Given the description of an element on the screen output the (x, y) to click on. 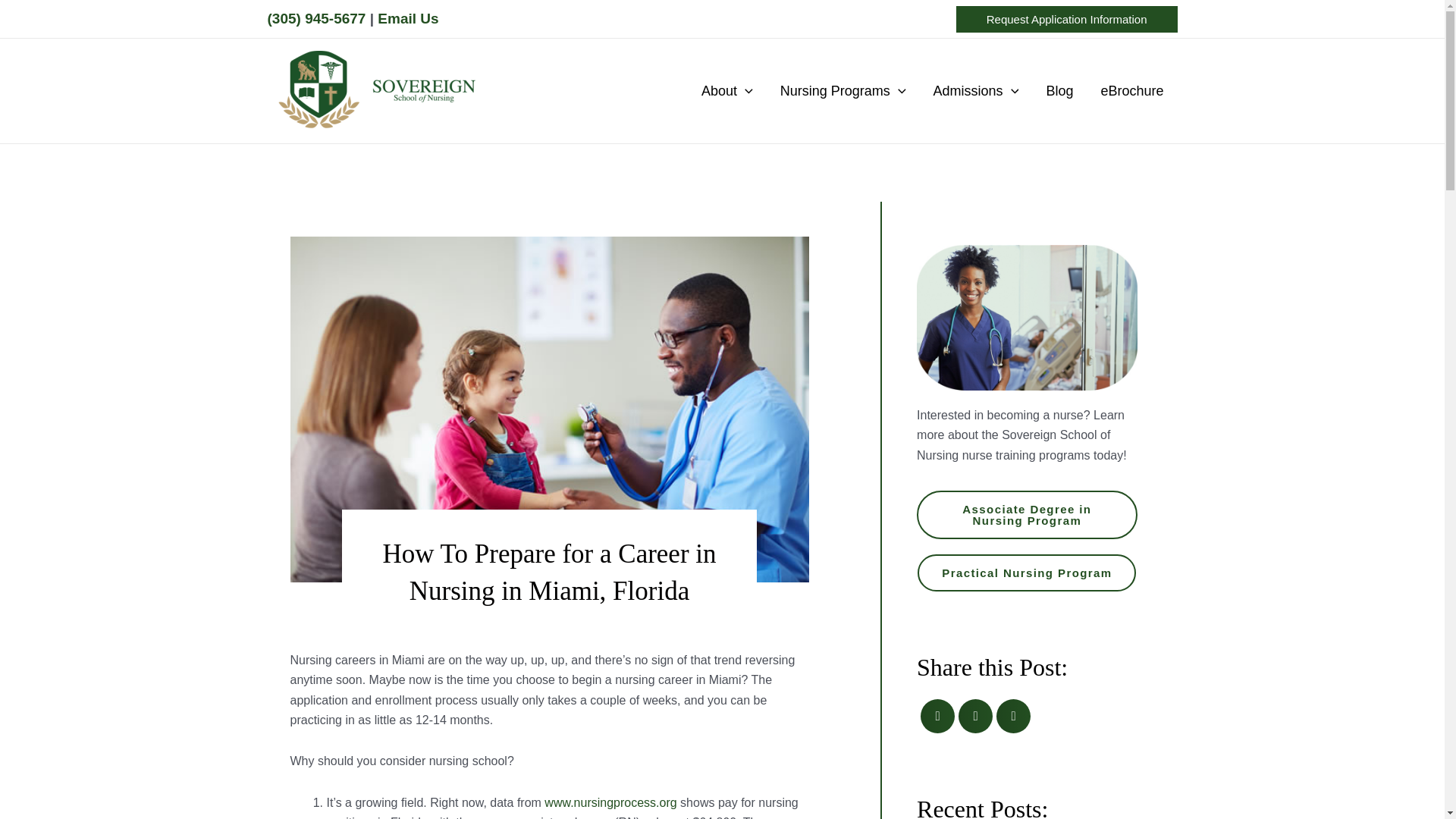
Admissions (976, 90)
Request Application Information (1066, 18)
About (727, 90)
Email Us (407, 18)
Blog (1059, 90)
Nursing Programs (843, 90)
eBrochure (1131, 90)
